Given the description of an element on the screen output the (x, y) to click on. 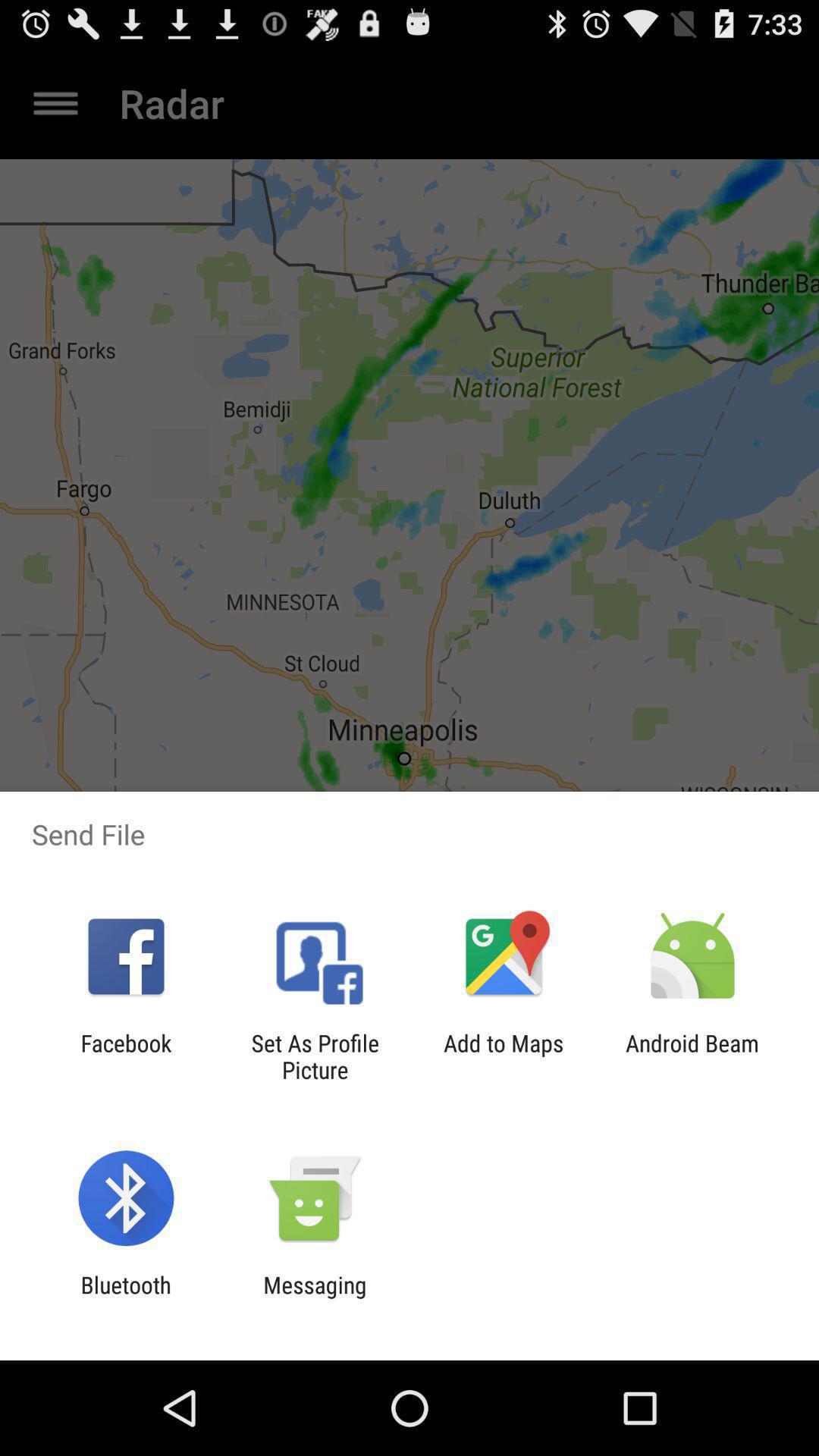
launch the item to the right of facebook item (314, 1056)
